Given the description of an element on the screen output the (x, y) to click on. 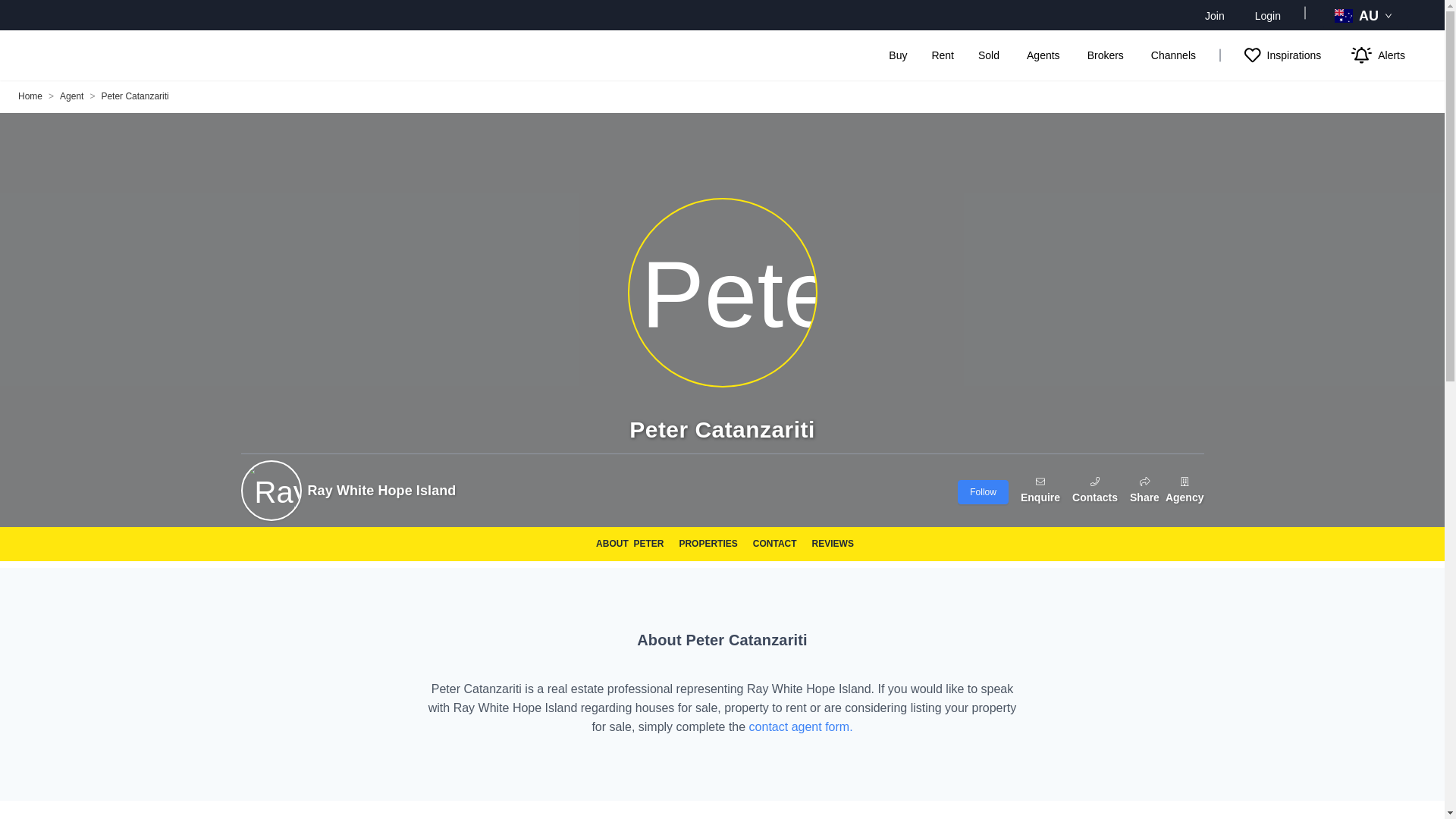
Agents (1042, 55)
Alerts (1378, 55)
CONTACT (774, 544)
Home (29, 95)
PROPERTIES (707, 544)
Join (1214, 15)
AU (1365, 15)
Follow (983, 491)
Enquire (1039, 490)
Channels (1173, 55)
